Given the description of an element on the screen output the (x, y) to click on. 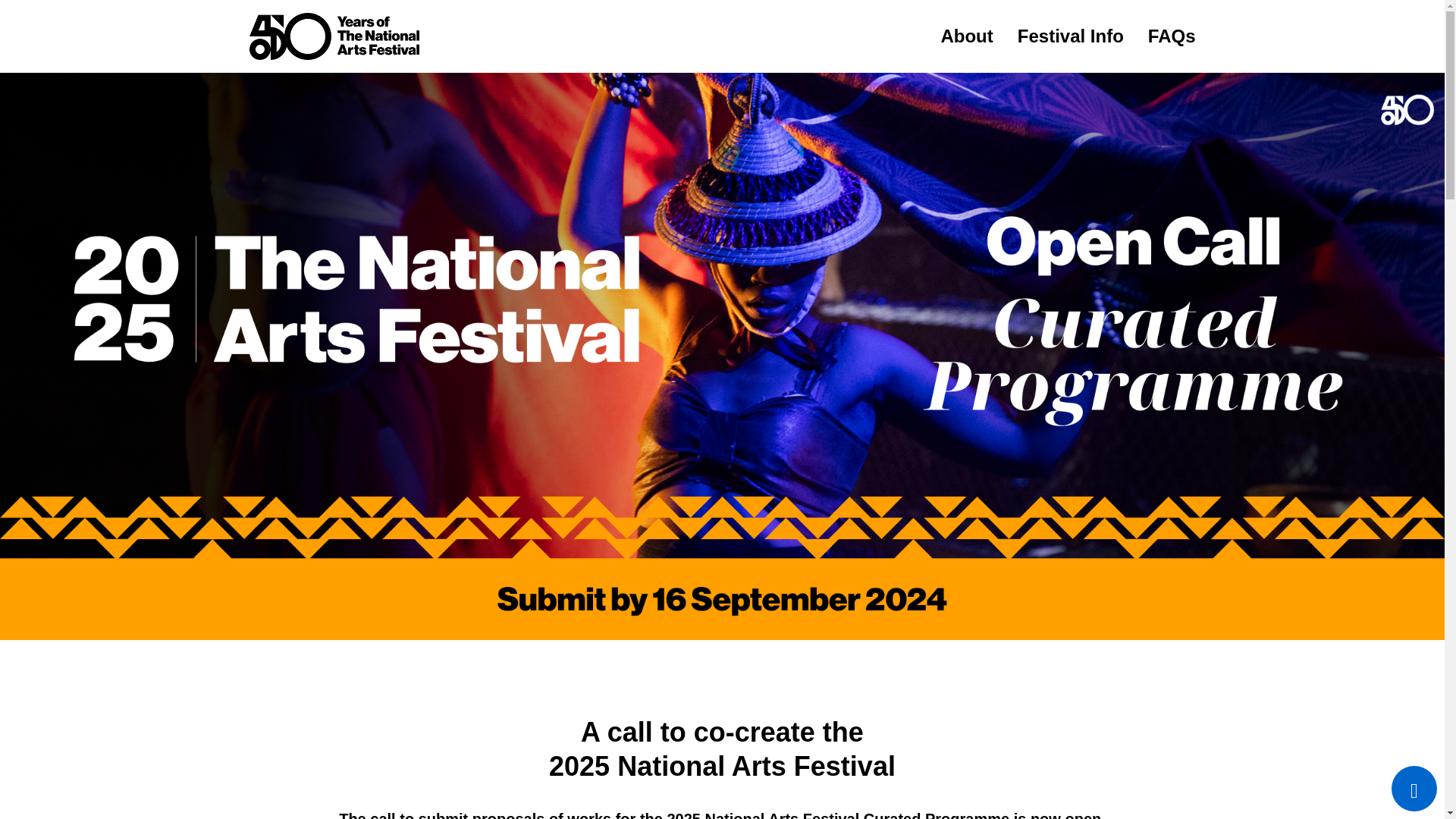
Festival Info (1070, 35)
FAQs (1171, 35)
About (966, 35)
